Given the description of an element on the screen output the (x, y) to click on. 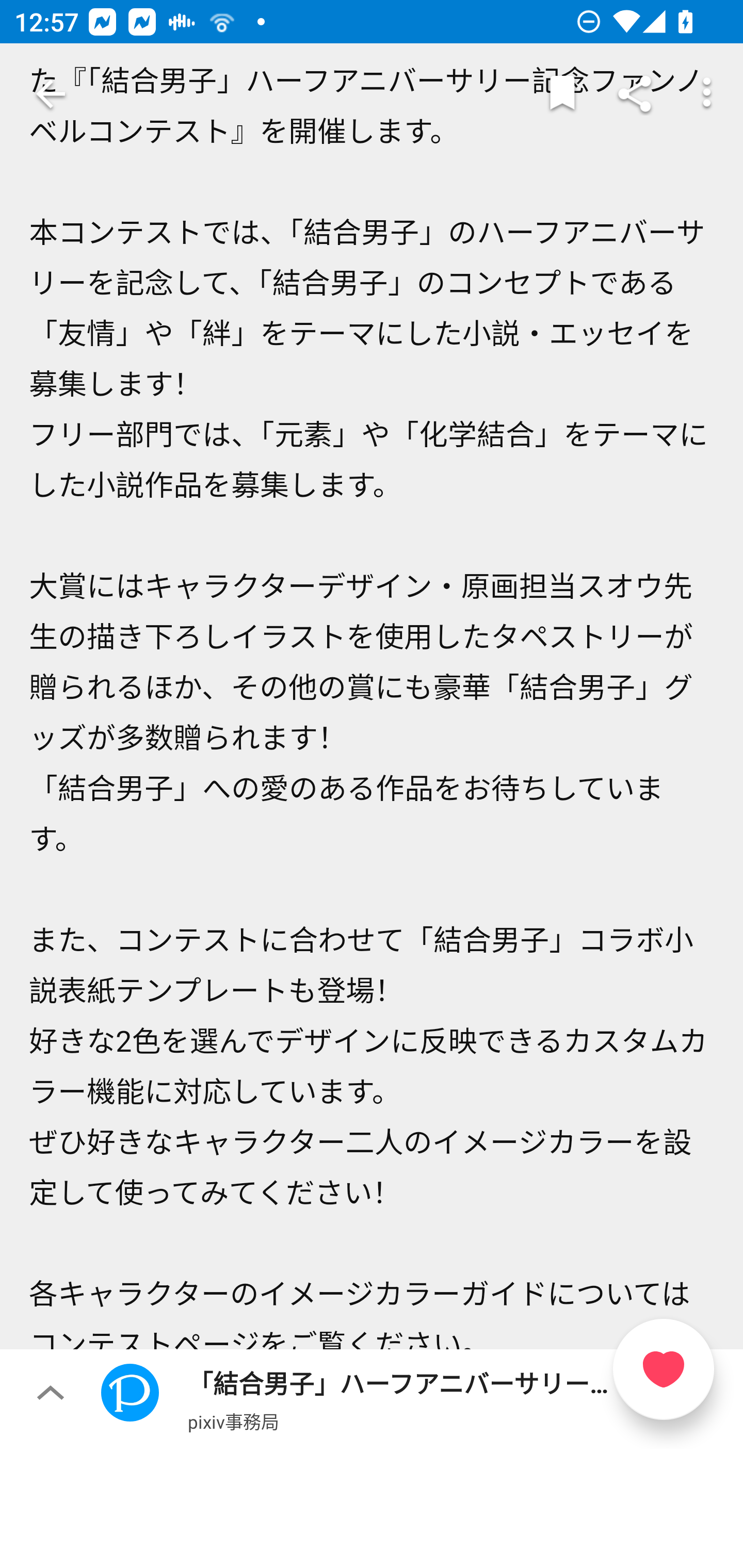
Navigate up (50, 93)
Markers (562, 93)
Share (634, 93)
More options (706, 93)
pixiv事務局 (233, 1421)
